Given the description of an element on the screen output the (x, y) to click on. 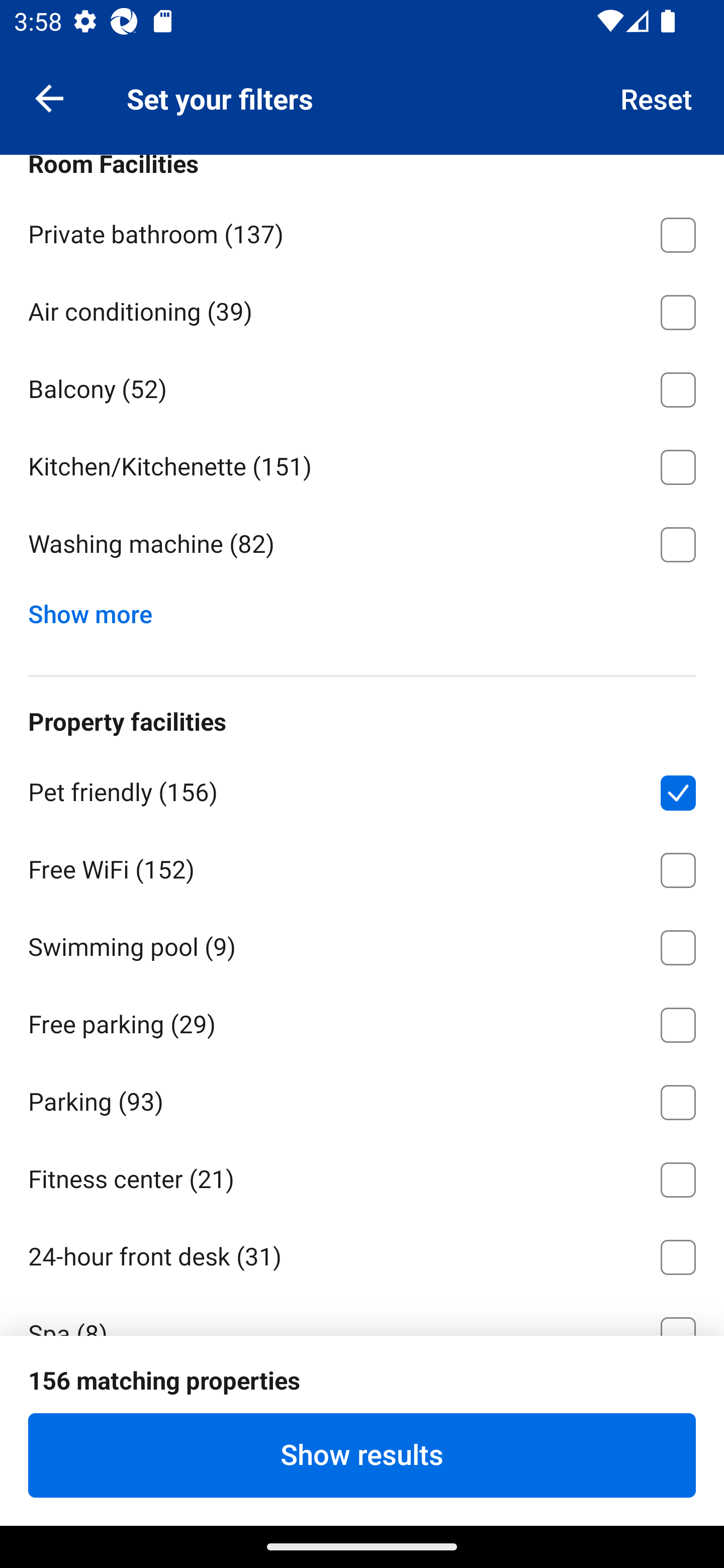
Navigate up (49, 97)
Reset (656, 97)
Private bathroom ⁦(137) (361, 230)
Air conditioning ⁦(39) (361, 308)
Balcony ⁦(52) (361, 386)
Kitchen/Kitchenette ⁦(151) (361, 463)
Washing machine ⁦(82) (361, 544)
Show more (97, 609)
Pet friendly ⁦(156) (361, 789)
Free WiFi ⁦(152) (361, 866)
Swimming pool ⁦(9) (361, 944)
Free parking ⁦(29) (361, 1021)
Parking ⁦(93) (361, 1098)
Fitness center ⁦(21) (361, 1176)
24-hour front desk ⁦(31) (361, 1253)
Show results (361, 1454)
